Given the description of an element on the screen output the (x, y) to click on. 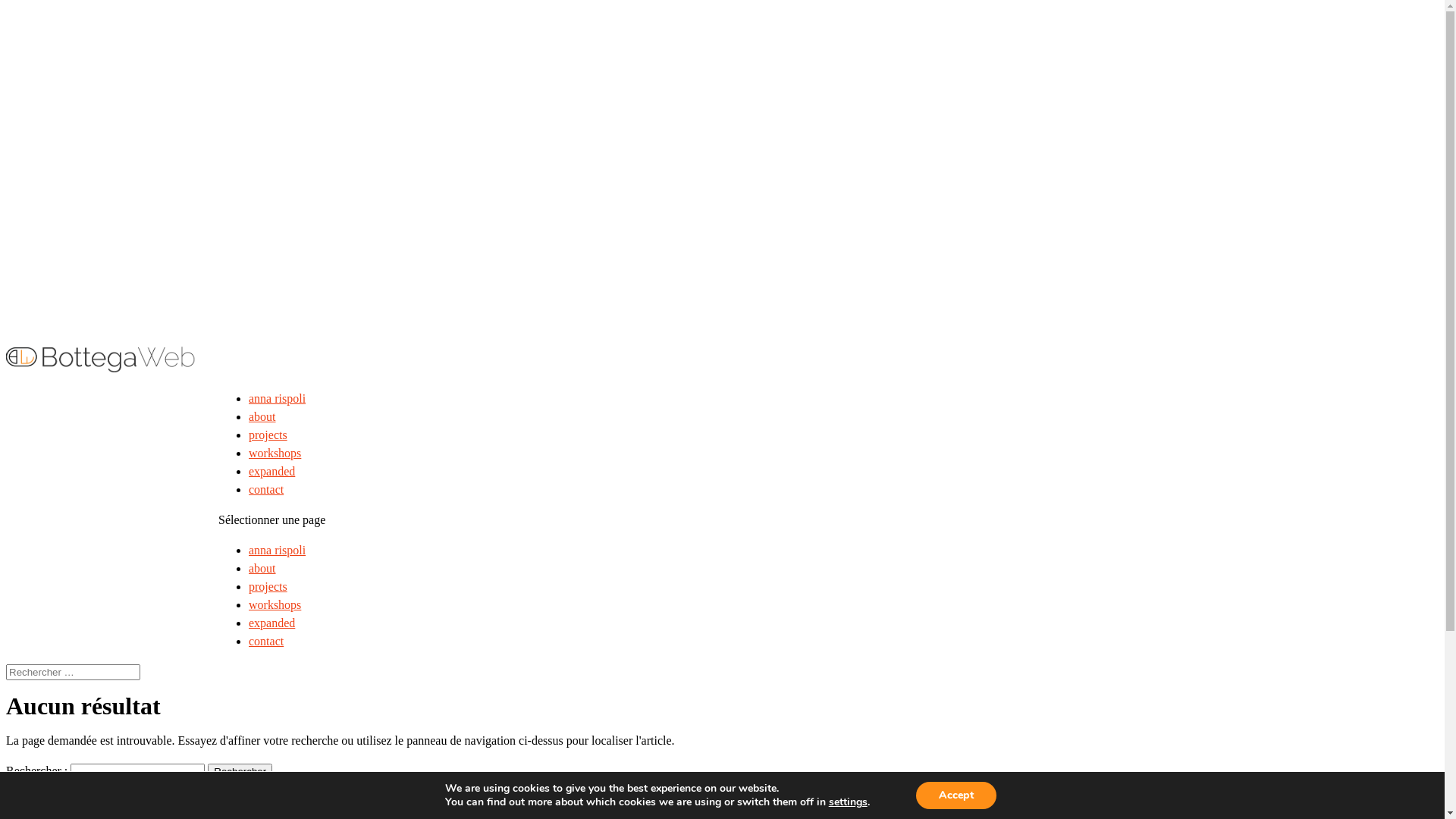
about Element type: text (262, 416)
contact Element type: text (265, 489)
contact Element type: text (265, 640)
workshops Element type: text (274, 604)
projects Element type: text (267, 586)
about Element type: text (262, 567)
workshops Element type: text (274, 452)
anna rispoli Element type: text (276, 549)
expanded Element type: text (271, 622)
projects Element type: text (267, 434)
expanded Element type: text (271, 470)
anna rispoli Element type: text (276, 398)
Rechercher Element type: text (239, 771)
Accept Element type: text (956, 795)
Rechercher: Element type: hover (73, 672)
